Given the description of an element on the screen output the (x, y) to click on. 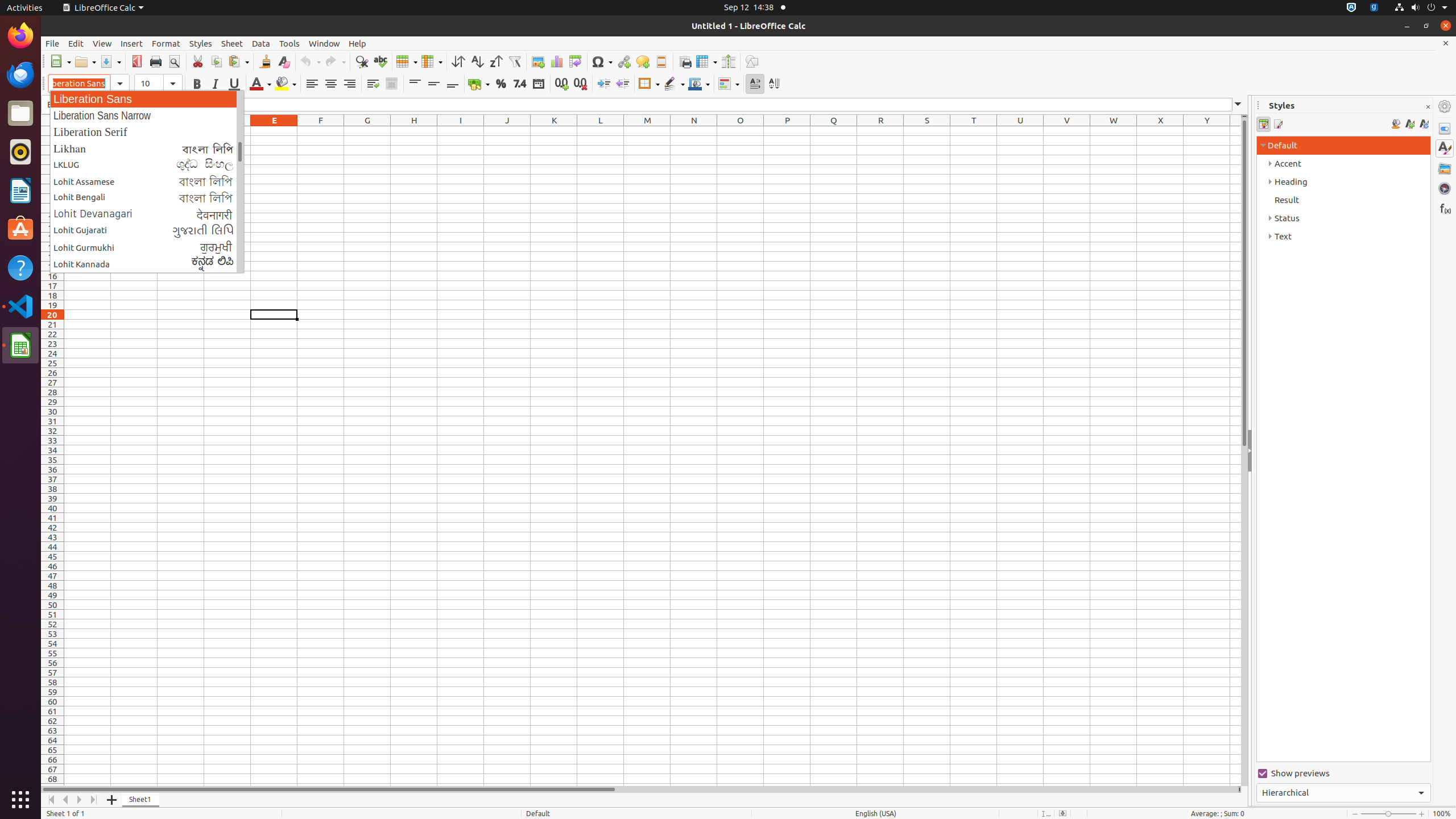
Chart Element type: push-button (556, 61)
LibreOffice Calc Element type: push-button (20, 344)
Sort Descending Element type: push-button (495, 61)
Data Element type: menu (260, 43)
T1 Element type: table-cell (973, 130)
